Given the description of an element on the screen output the (x, y) to click on. 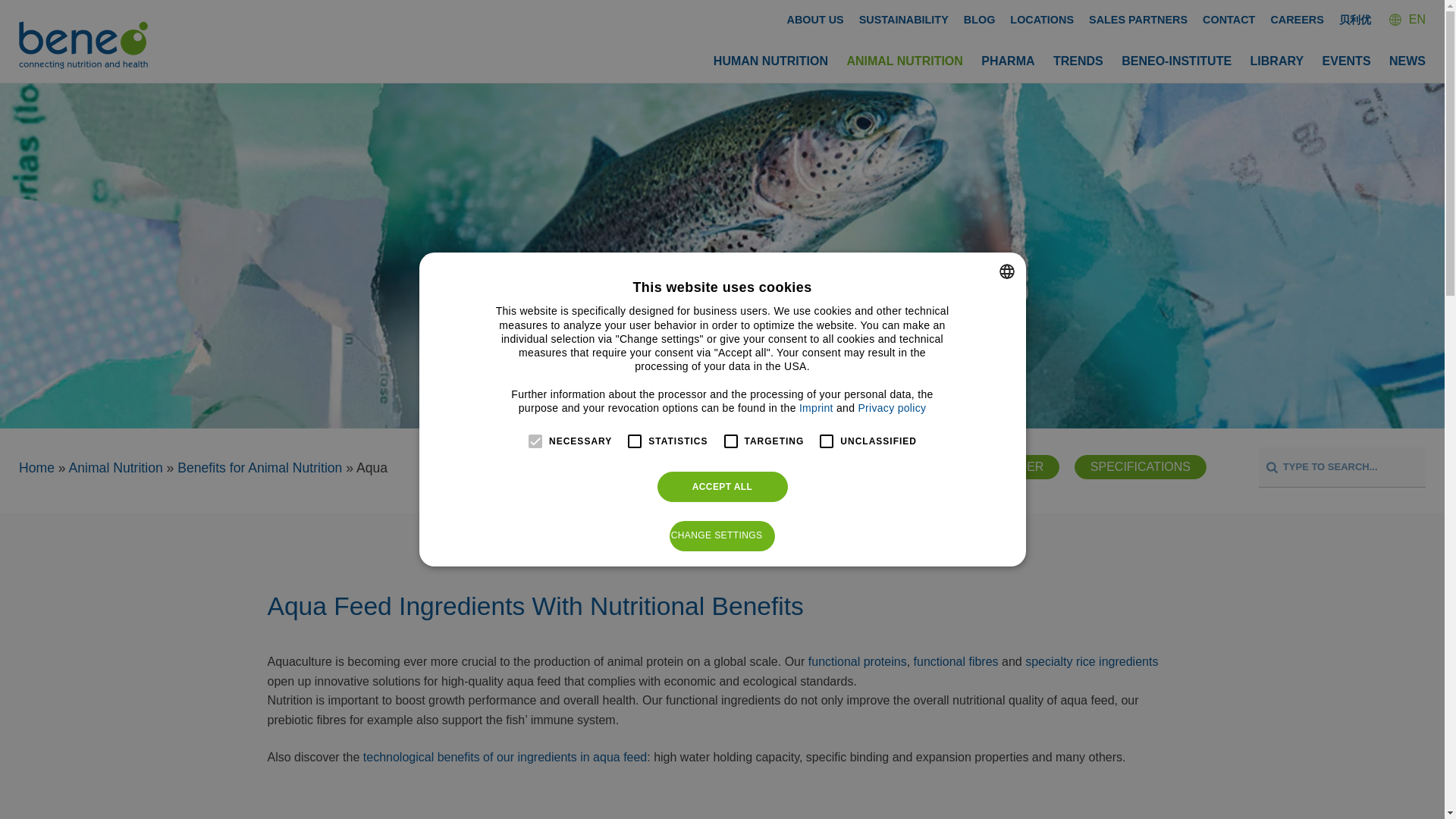
CAREERS (1296, 19)
LOCATIONS (1042, 19)
EN (1407, 19)
SUSTAINABILITY (904, 19)
SALES PARTNERS (1138, 19)
BLOG (979, 19)
HUMAN NUTRITION (770, 60)
ABOUT US (815, 19)
CONTACT (1228, 19)
